Given the description of an element on the screen output the (x, y) to click on. 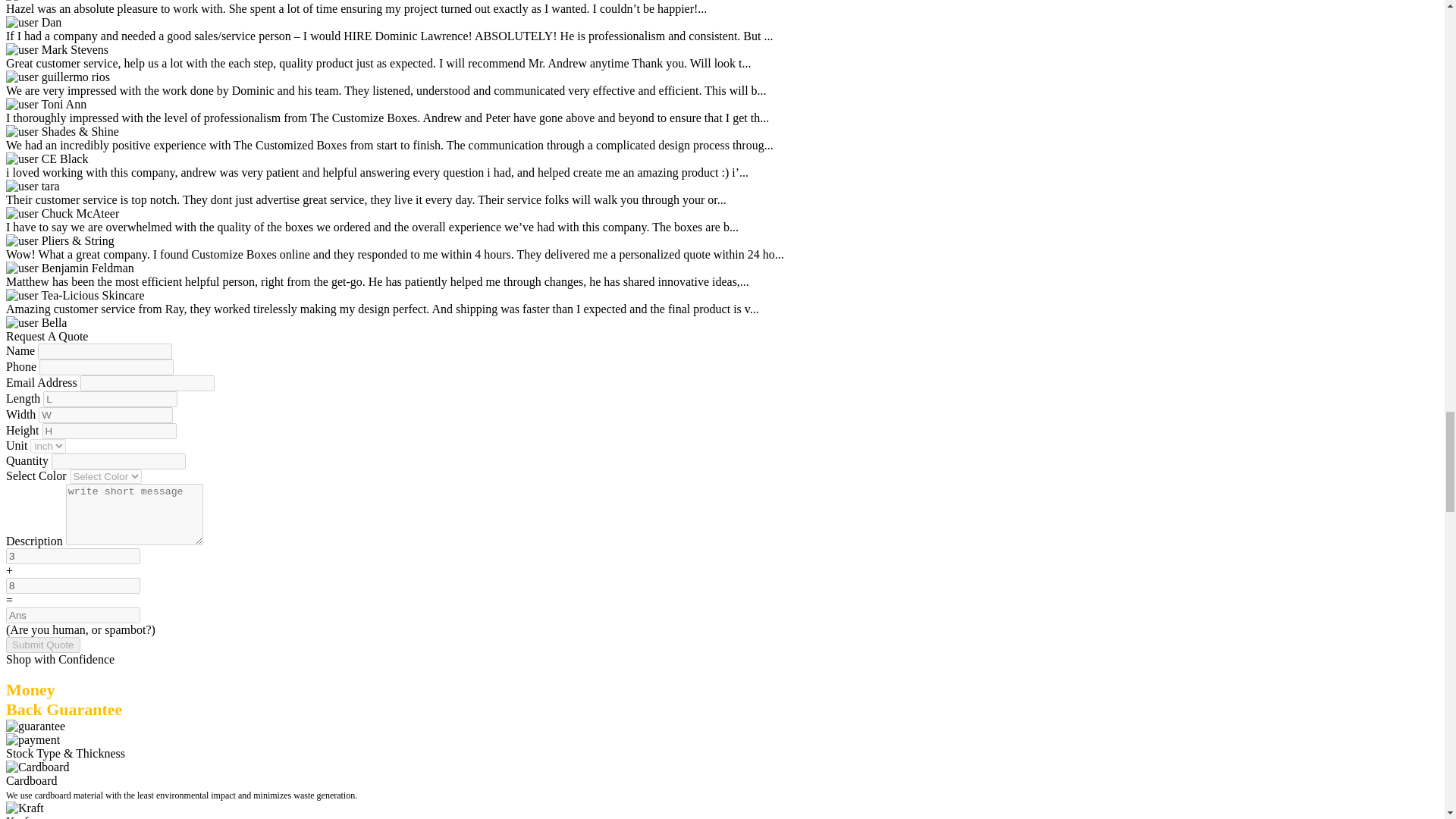
3 (72, 555)
user (22, 186)
8 (72, 585)
user (22, 49)
user (22, 104)
user (22, 77)
user (22, 22)
user (22, 131)
user (22, 213)
user (22, 159)
